Given the description of an element on the screen output the (x, y) to click on. 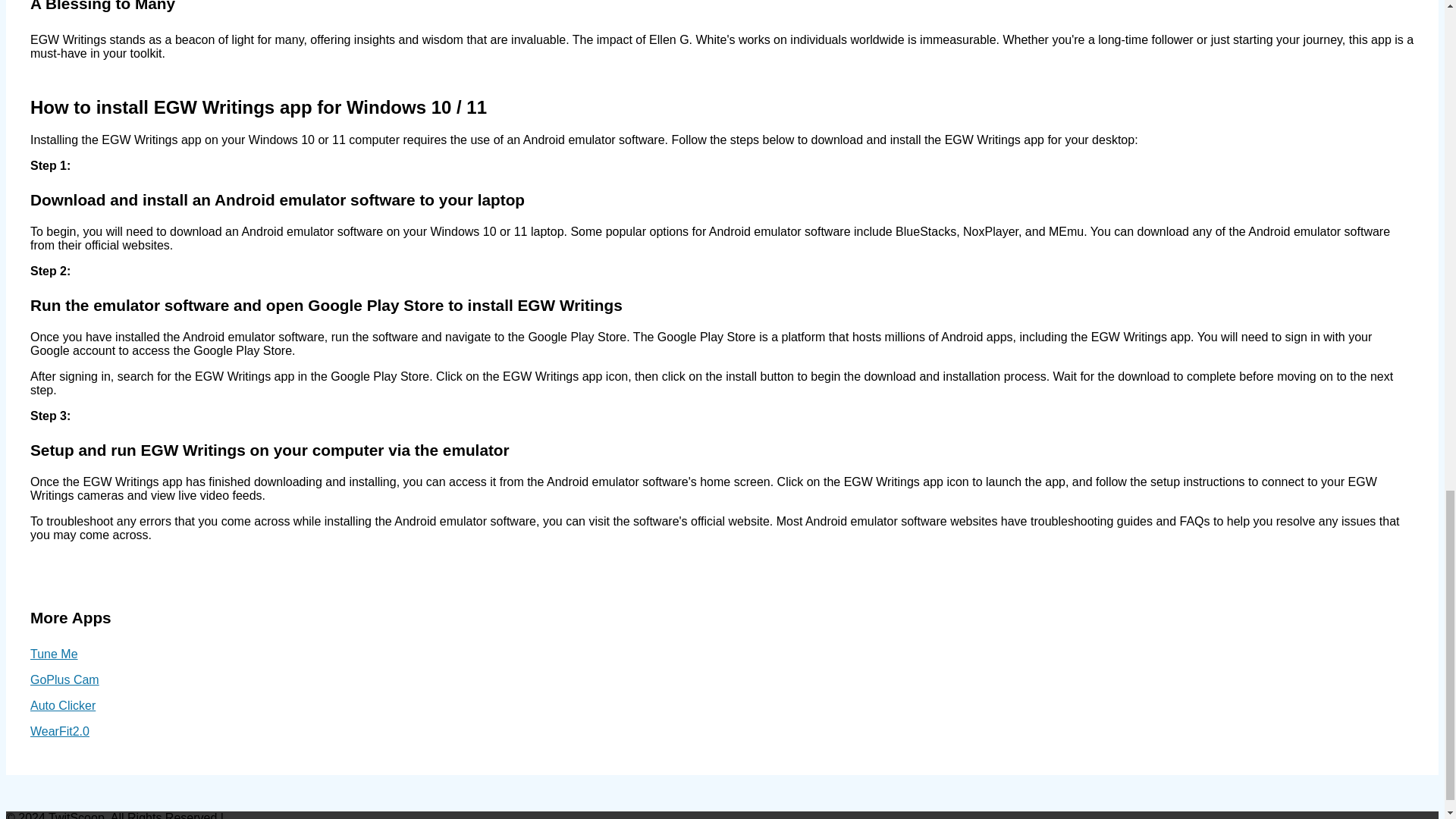
WearFit2.0 (59, 730)
Tune Me (54, 653)
Auto Clicker (63, 705)
GoPlus Cam (64, 679)
